Given the description of an element on the screen output the (x, y) to click on. 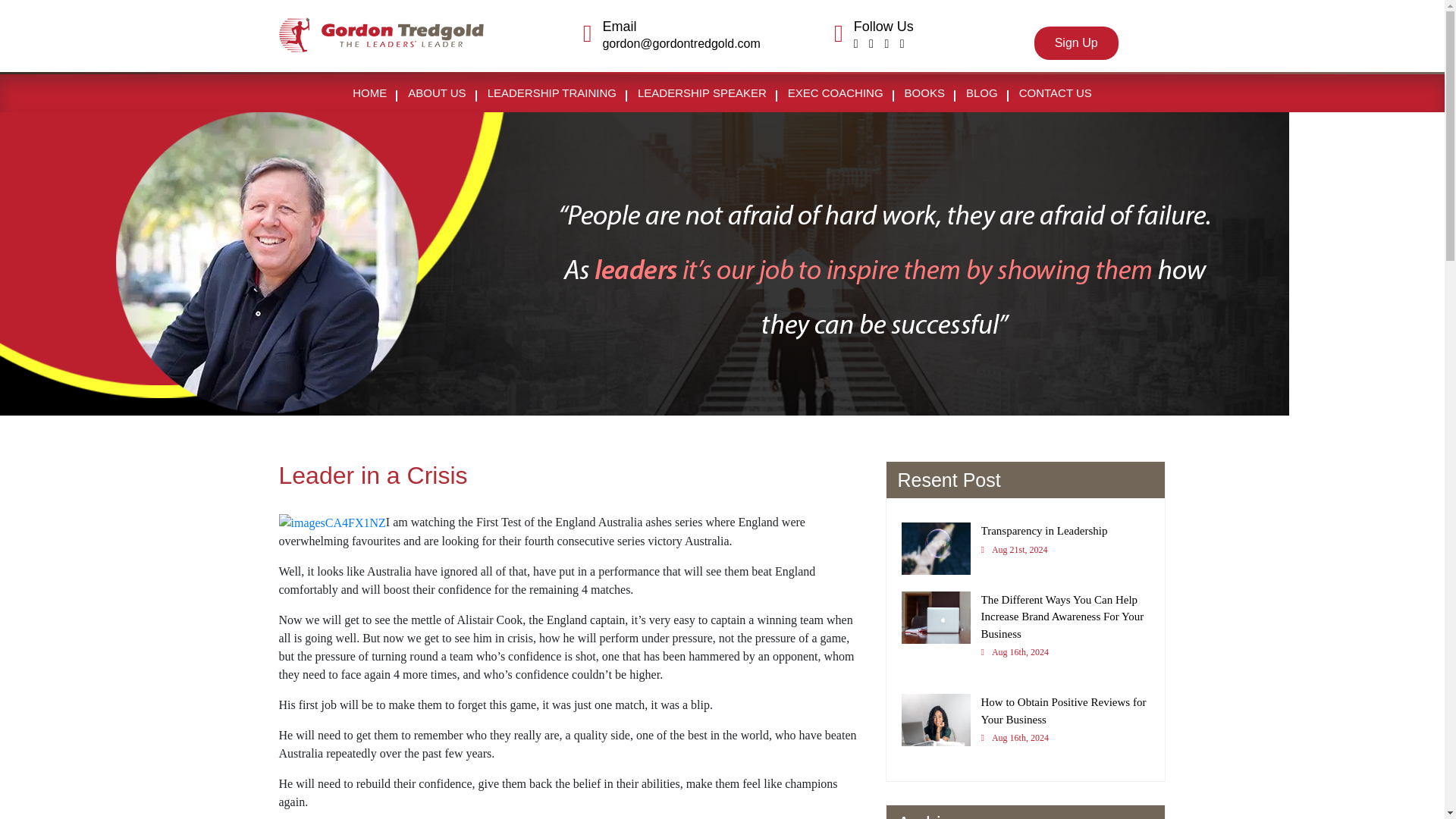
BLOG (982, 92)
Sign Up (1075, 42)
EXEC COACHING (835, 92)
ABOUT US (1025, 545)
LEADERSHIP SPEAKER (436, 92)
BOOKS (702, 92)
HOME (924, 92)
